Given the description of an element on the screen output the (x, y) to click on. 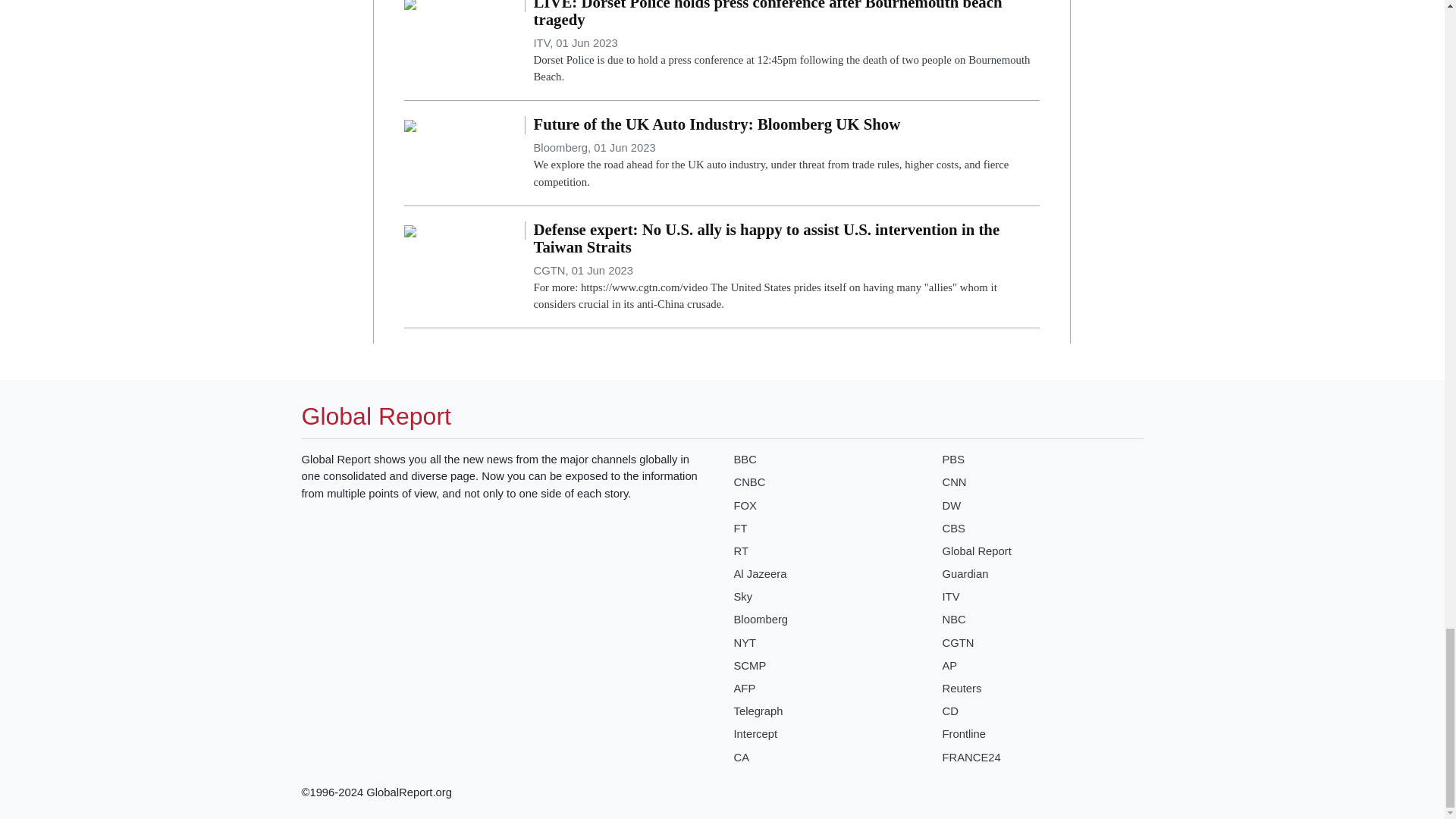
Future of the UK Auto Industry: Bloomberg UK Show (785, 152)
Future of the UK Auto Industry: Bloomberg UK Show (410, 124)
